Given the description of an element on the screen output the (x, y) to click on. 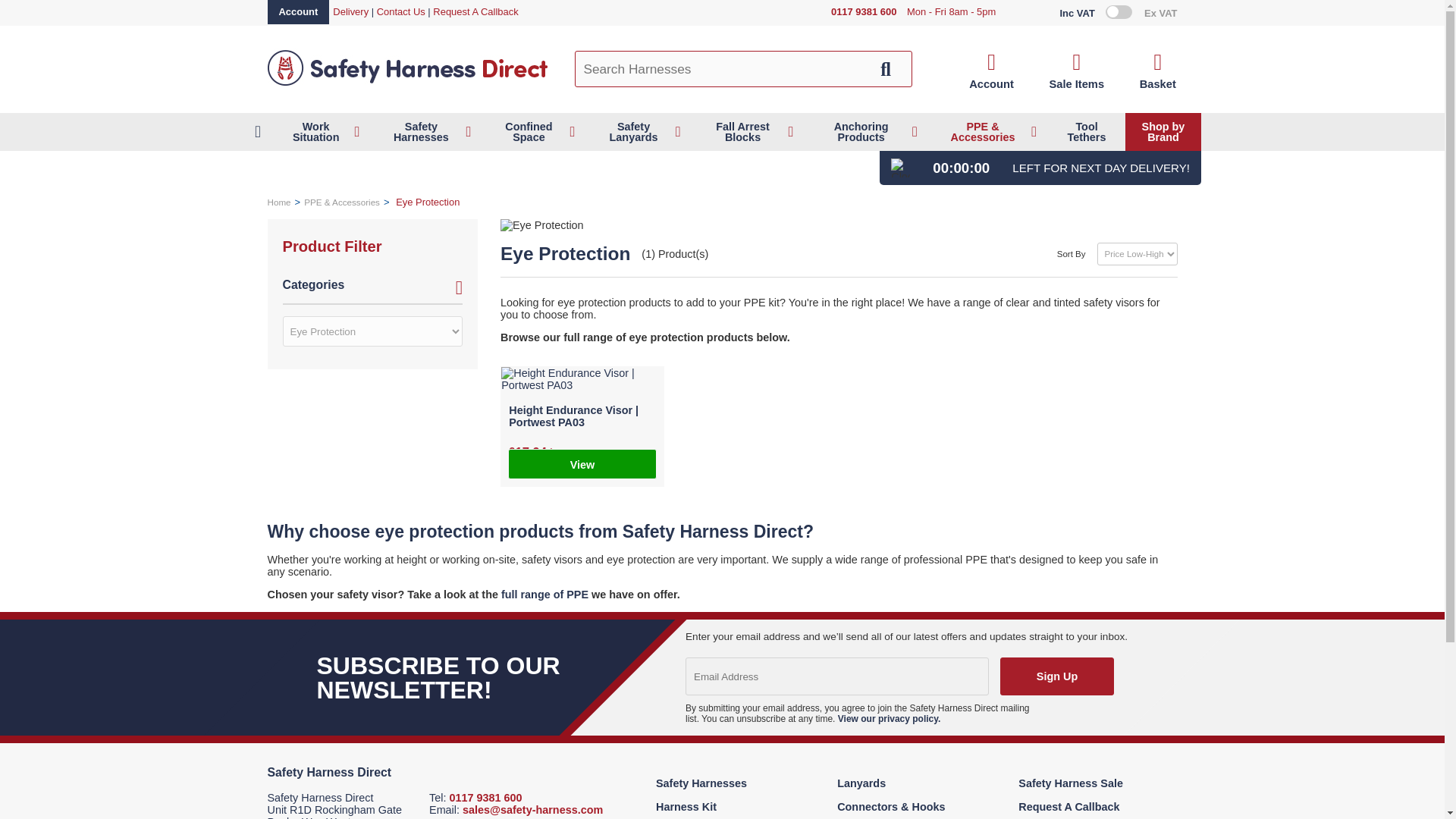
Account (991, 70)
Contact Us (401, 11)
Delivery (350, 11)
Sale Items (1075, 70)
Safety Harness Direct (406, 83)
Request A Callback (475, 11)
0117 9381 600 (863, 12)
Account (297, 12)
Contact Us (401, 11)
call us today on 0117 9381 600 (863, 12)
Delivery (350, 11)
Request A Callback (475, 11)
Safety Harnesses (426, 131)
Compare (1075, 70)
Basket (1158, 70)
